Given the description of an element on the screen output the (x, y) to click on. 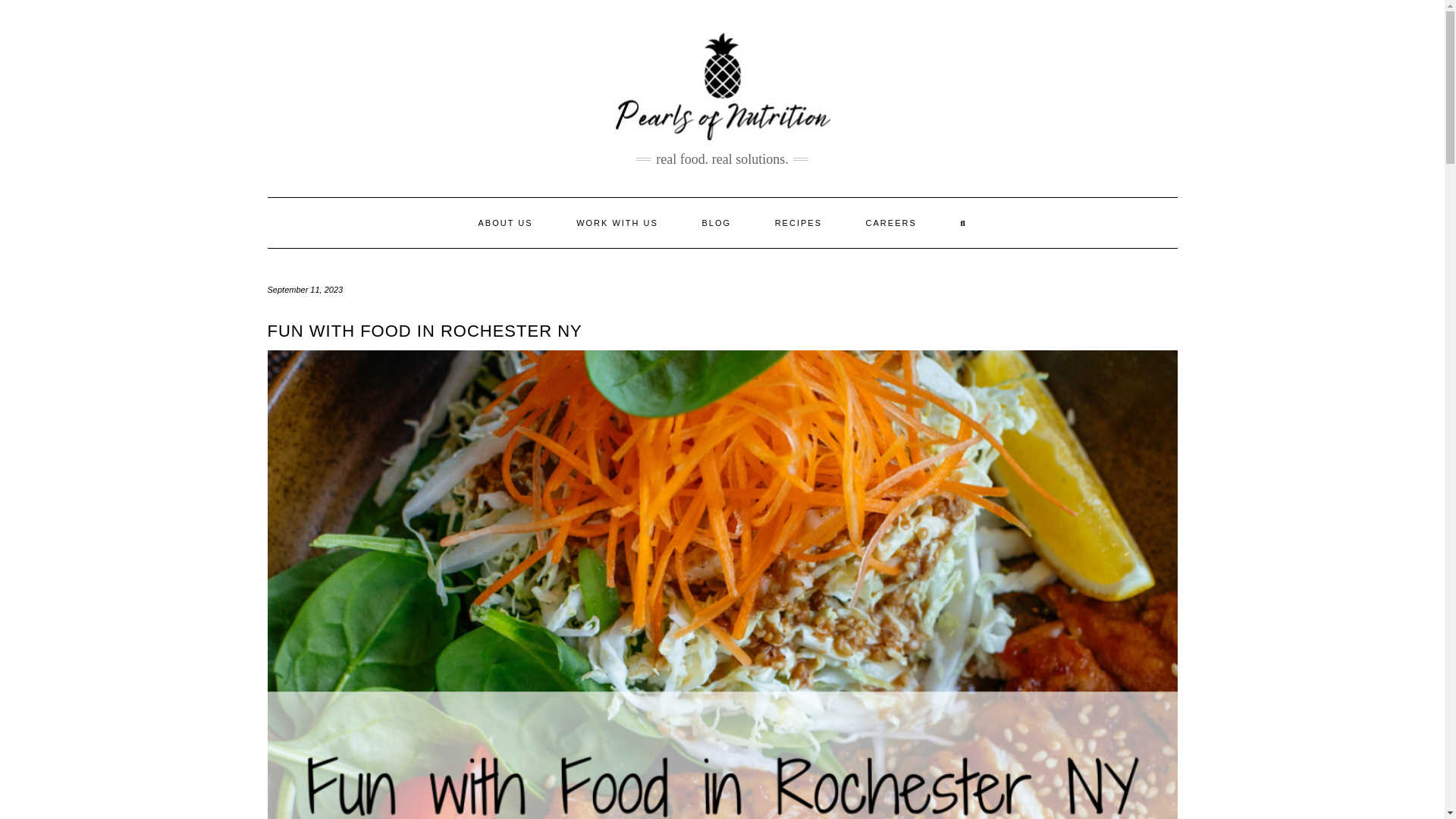
ABOUT US (505, 223)
WORK WITH US (617, 223)
SEARCH HERE (963, 223)
BLOG (716, 223)
RECIPES (798, 223)
CAREERS (891, 223)
